Given the description of an element on the screen output the (x, y) to click on. 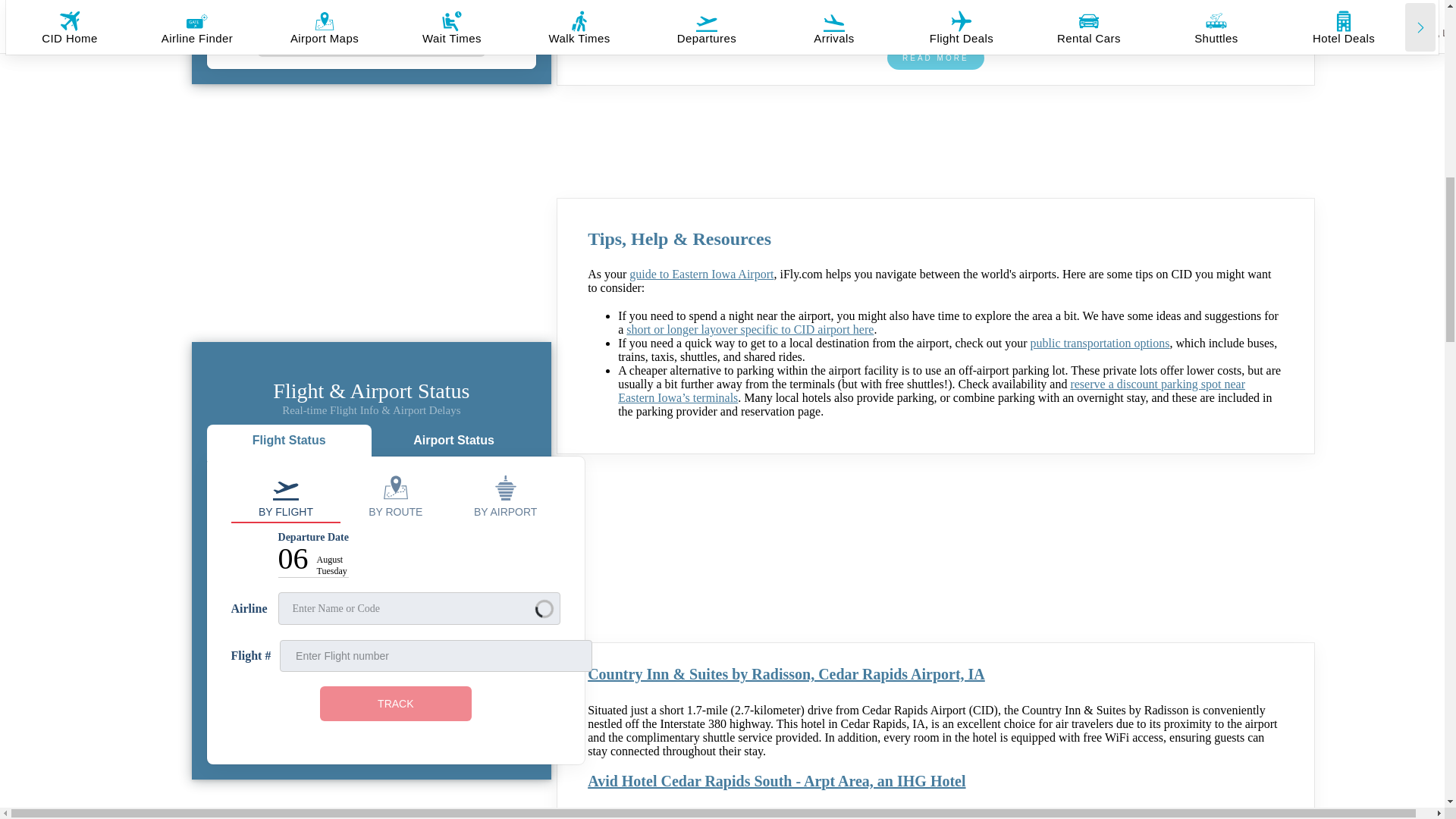
Flight Status (288, 443)
By Flight (285, 495)
Airport Status (453, 443)
By Route (394, 495)
By Airport (504, 495)
